Given the description of an element on the screen output the (x, y) to click on. 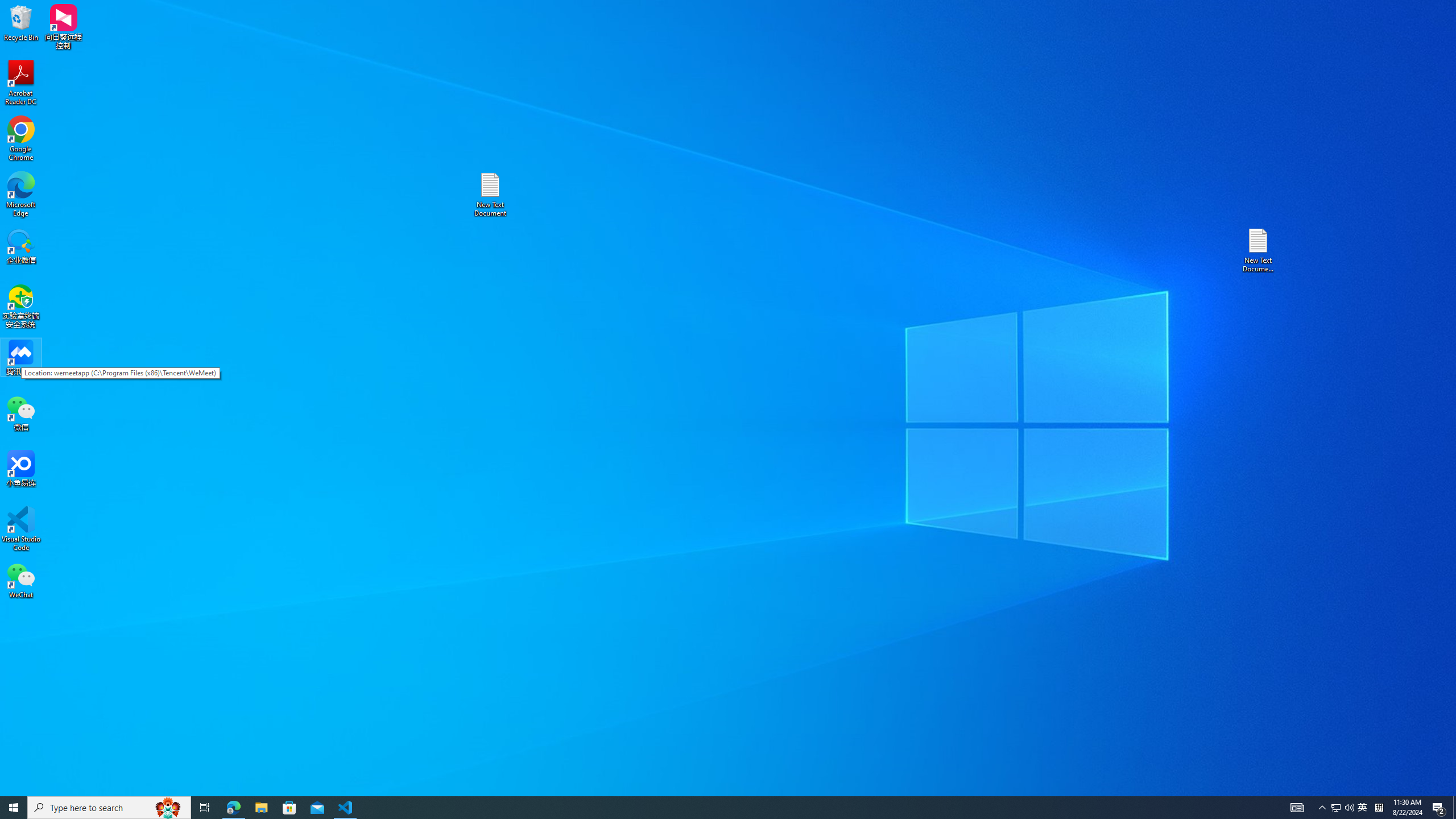
Acrobat Reader DC (21, 82)
